Given the description of an element on the screen output the (x, y) to click on. 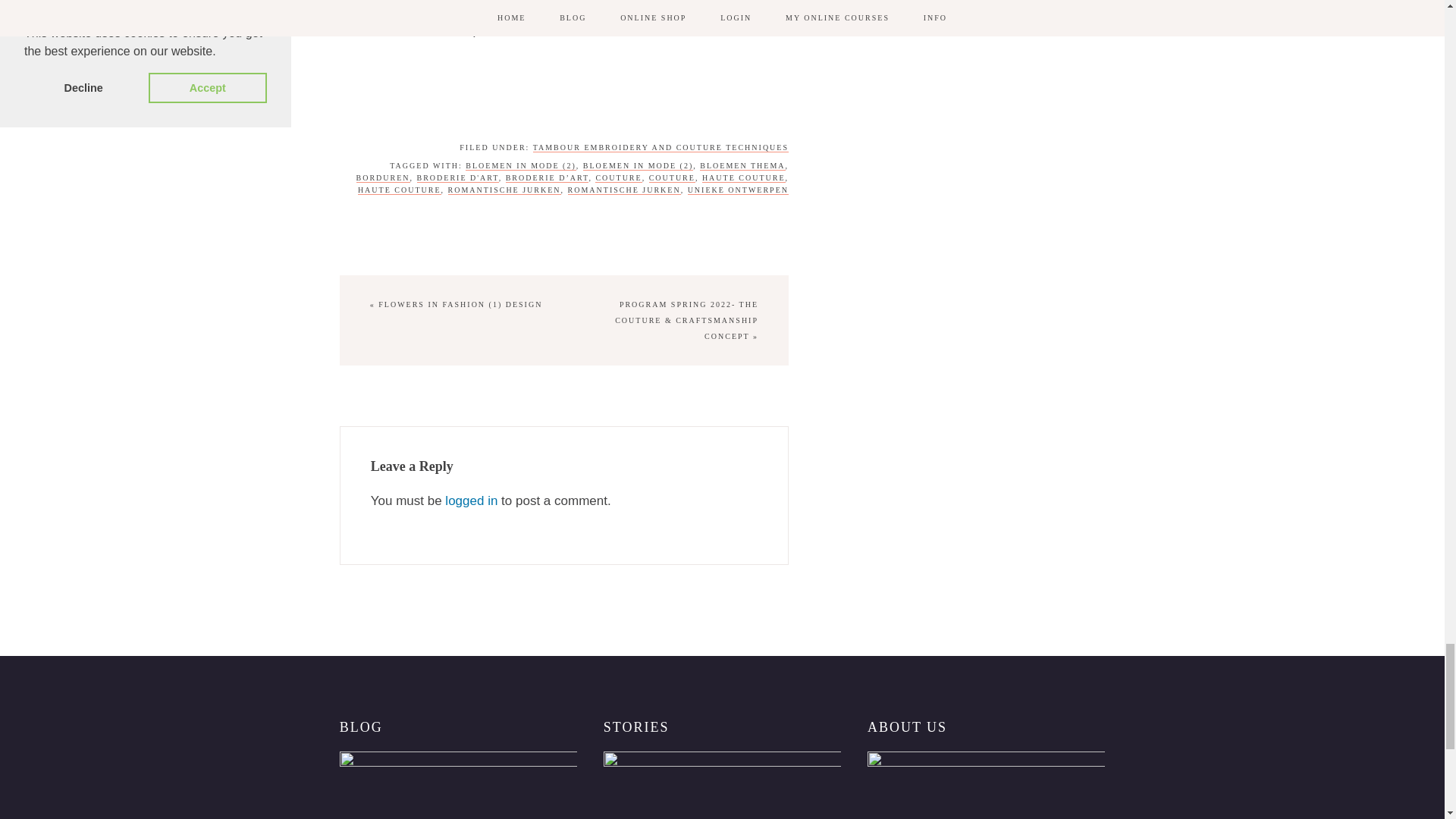
STORIES (722, 785)
TAMBOUR EMBROIDERY AND COUTURE TECHNIQUES (660, 147)
BLOEMEN THEMA (742, 165)
BORDUREN (383, 177)
